Given the description of an element on the screen output the (x, y) to click on. 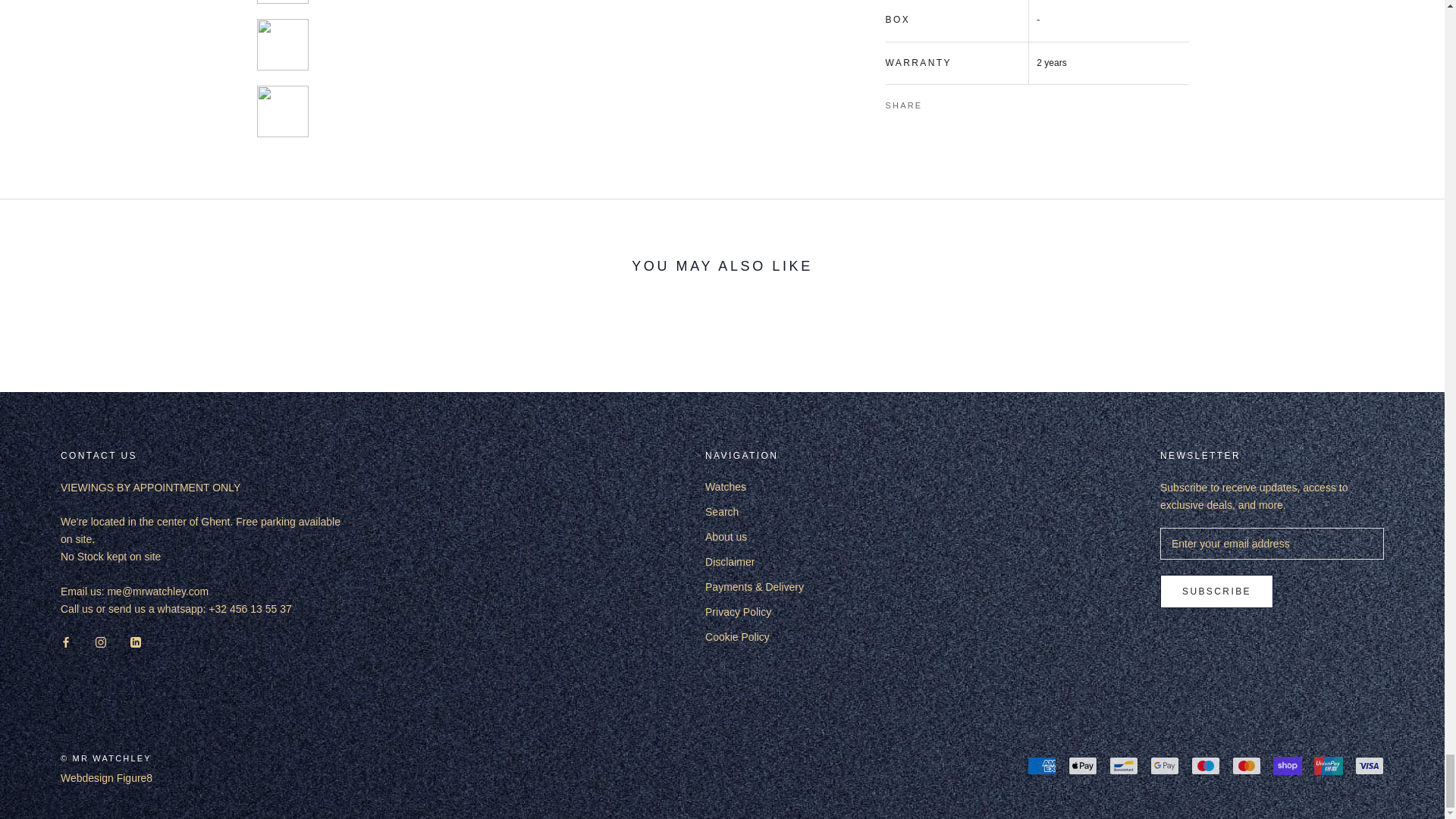
American Express (1042, 765)
Visa (1369, 765)
Google Pay (1164, 765)
Mastercard (1245, 765)
Apple Pay (1082, 765)
Maestro (1205, 765)
Shop Pay (1286, 765)
Bancontact (1123, 765)
Union Pay (1328, 765)
